Given the description of an element on the screen output the (x, y) to click on. 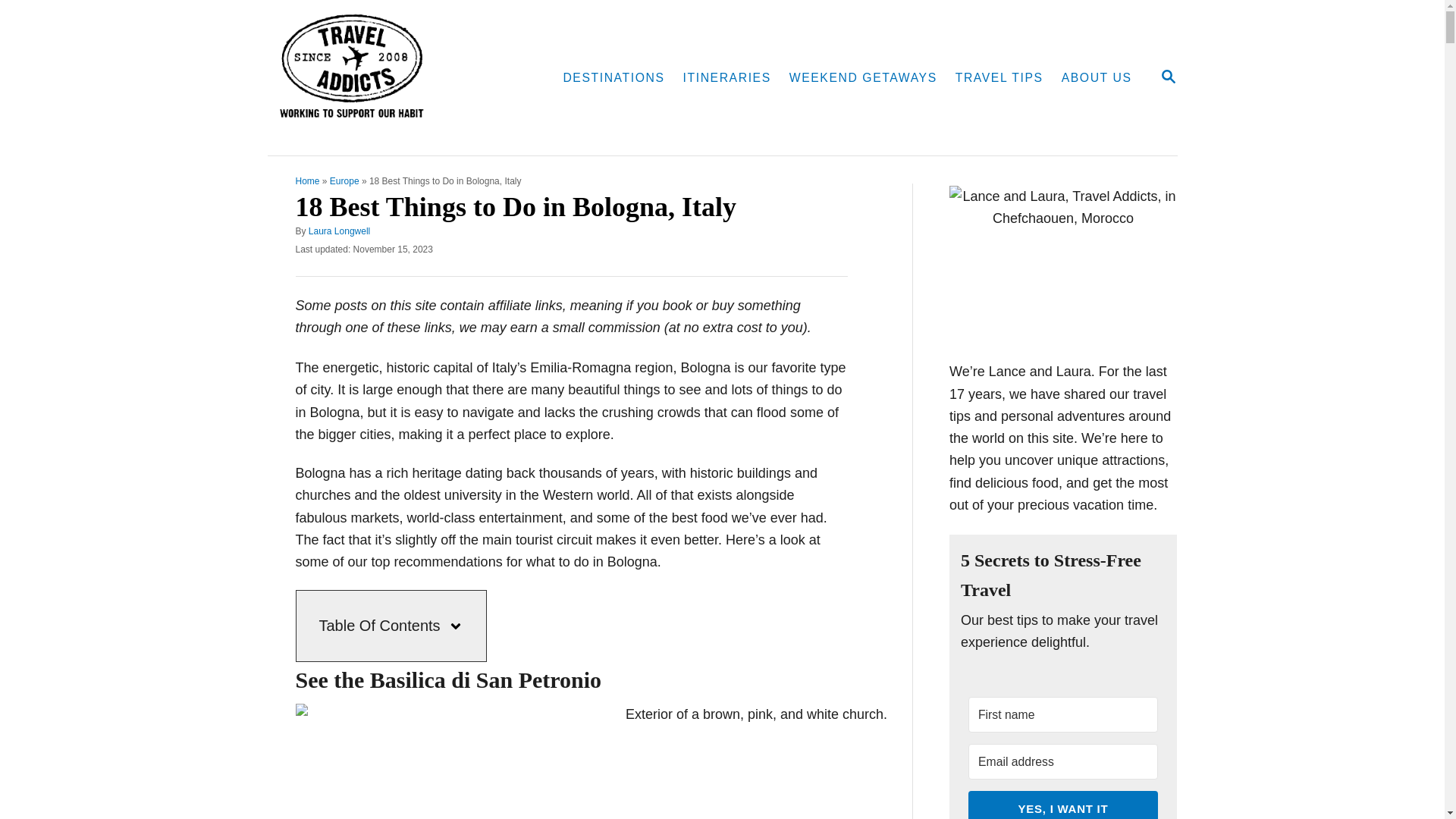
Europe (1167, 77)
MAGNIFYING GLASS (344, 181)
Laura Longwell (1167, 76)
TRAVEL TIPS (338, 231)
Home (999, 78)
ABOUT US (307, 181)
ITINERARIES (1096, 78)
WEEKEND GETAWAYS (727, 78)
DESTINATIONS (863, 78)
